Given the description of an element on the screen output the (x, y) to click on. 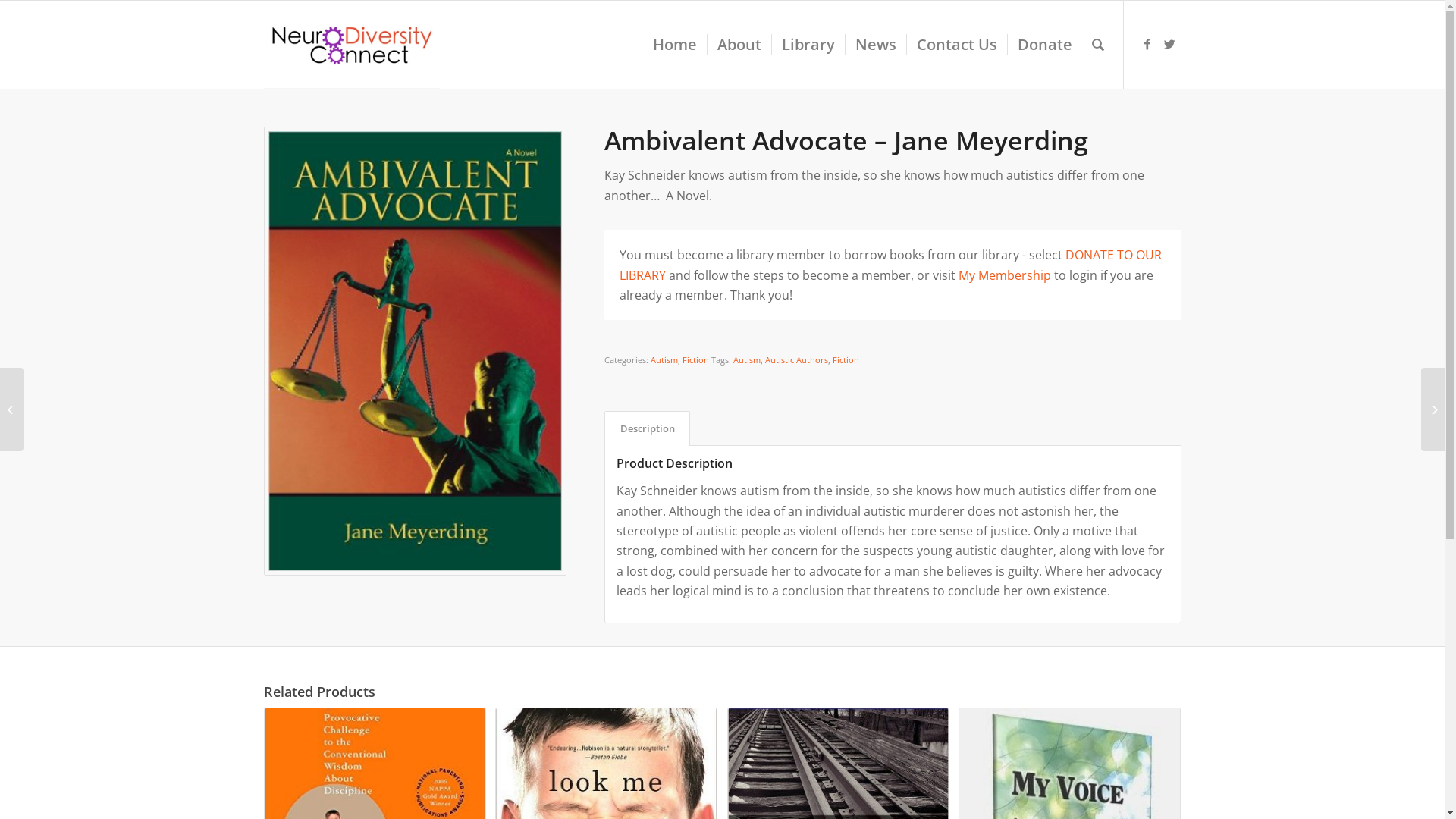
Autism Element type: text (663, 359)
Facebook Element type: hover (1146, 43)
DONATE TO OUR LIBRARY Element type: text (890, 264)
Home Element type: text (674, 44)
About Element type: text (738, 44)
News Element type: text (875, 44)
Donate Element type: text (1044, 44)
Autism Element type: text (746, 359)
Description Element type: text (647, 428)
Contact Us Element type: text (955, 44)
Twitter Element type: hover (1169, 43)
My Membership Element type: text (1004, 274)
Fiction Element type: text (845, 359)
Library Element type: text (807, 44)
Fiction Element type: text (695, 359)
Autistic Authors Element type: text (796, 359)
